Given the description of an element on the screen output the (x, y) to click on. 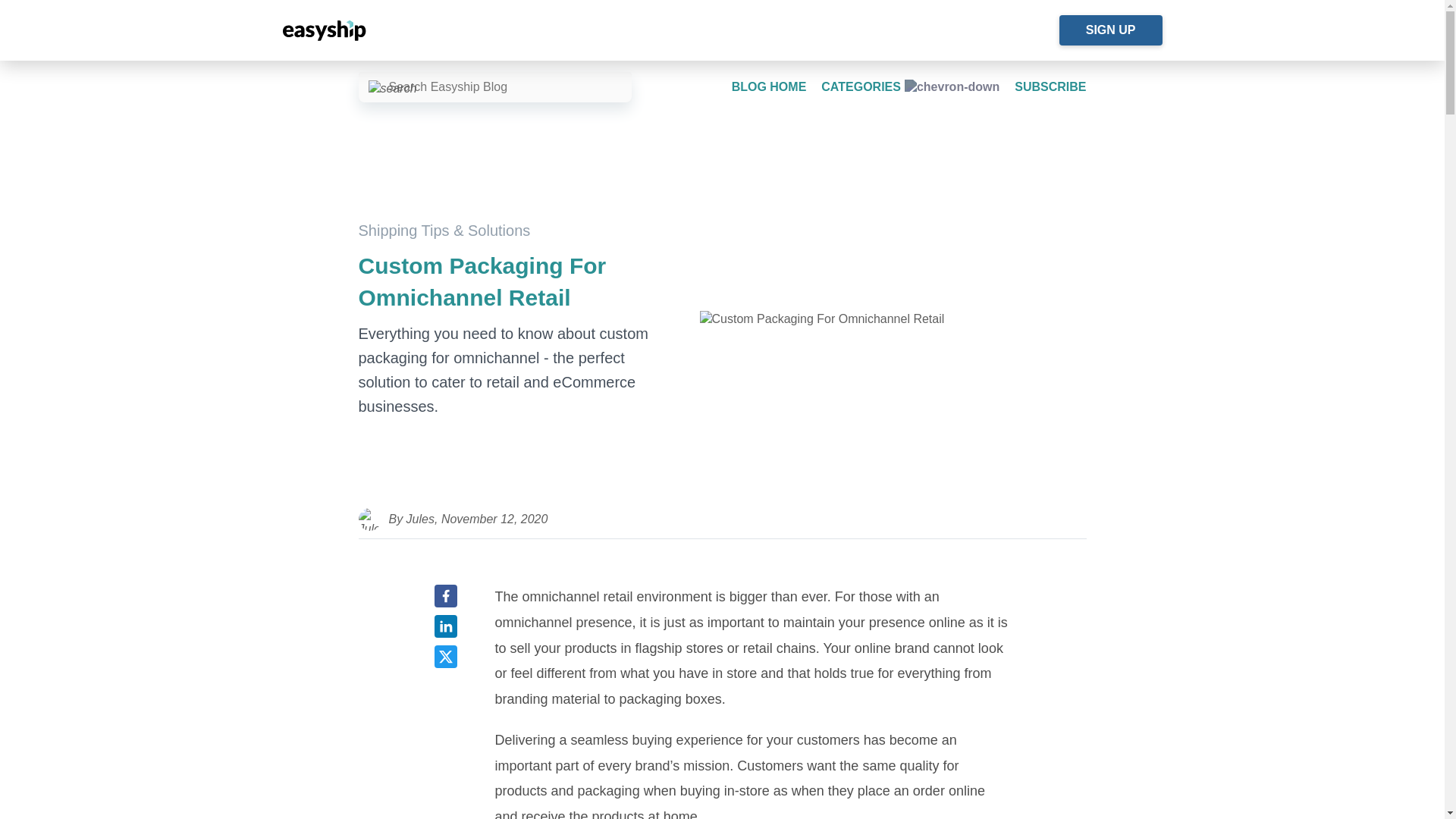
SIGN UP (1110, 30)
BLOG HOME (769, 87)
